Given the description of an element on the screen output the (x, y) to click on. 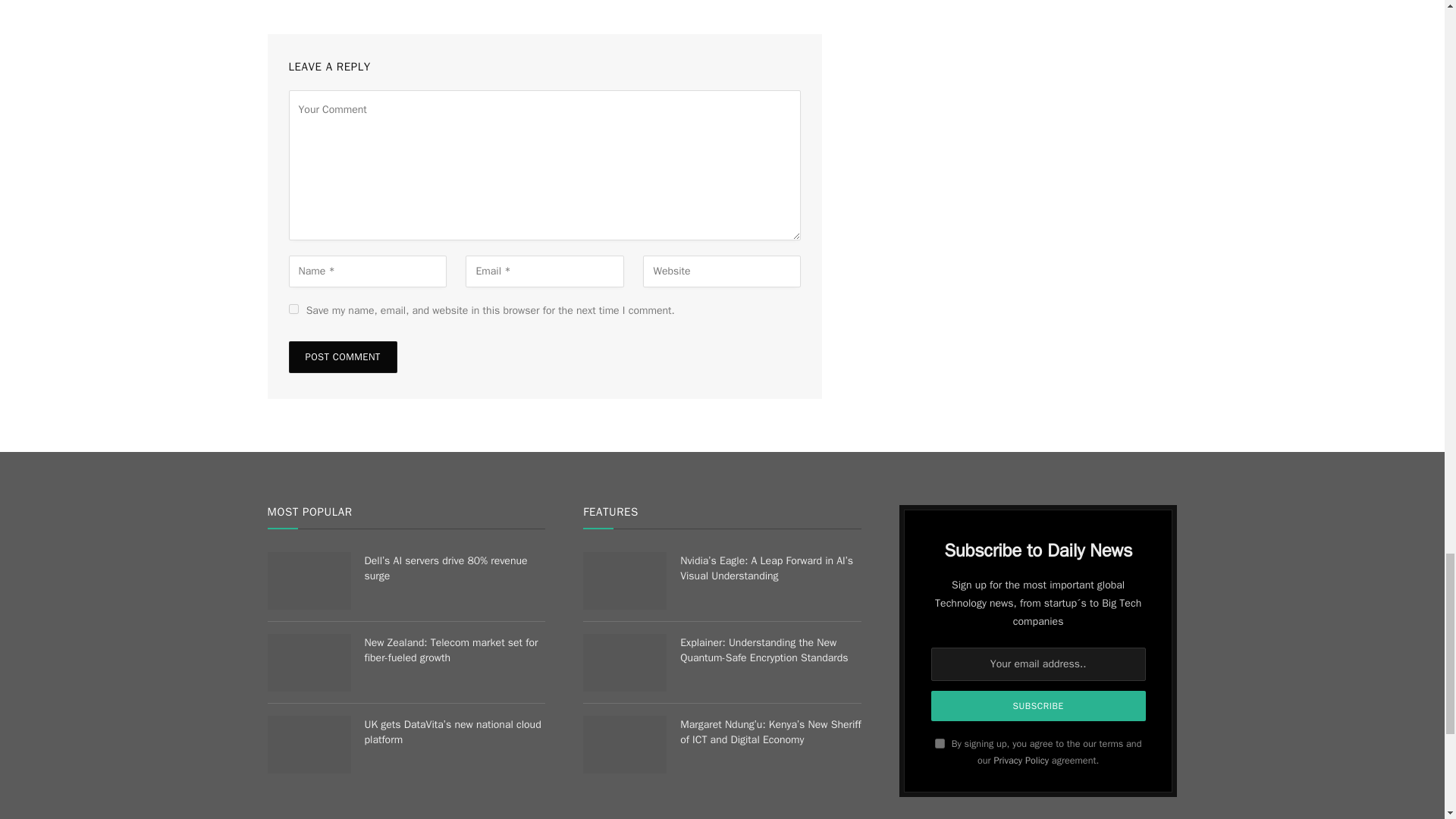
Subscribe (1038, 706)
yes (293, 308)
Post Comment (342, 357)
on (939, 743)
